Given the description of an element on the screen output the (x, y) to click on. 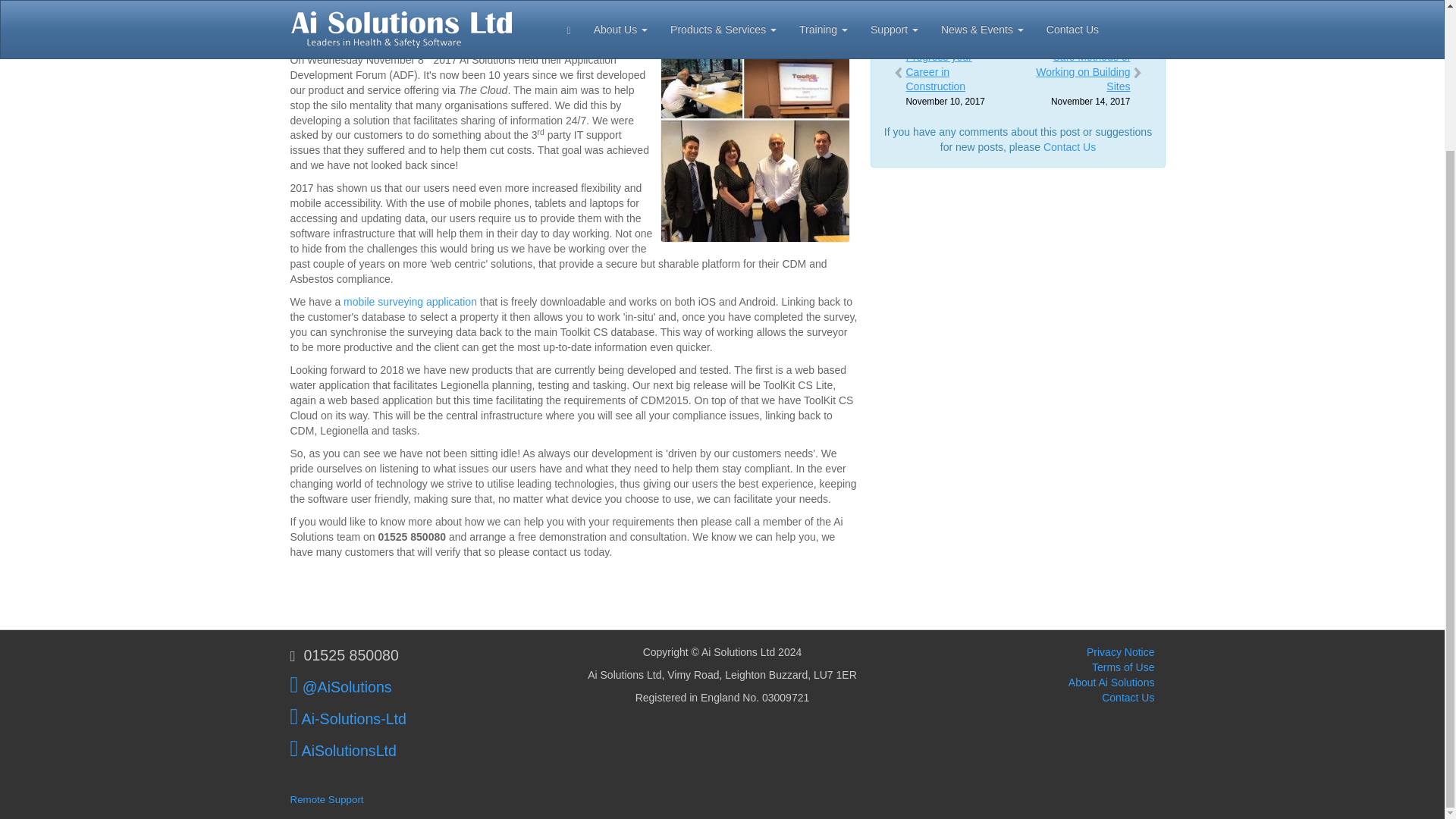
AiSolutionsLtd (342, 750)
Ai Solutions Blog (1063, 13)
Contact Us (1069, 146)
Privacy Notice (1120, 652)
Ai-Solutions-Ltd (347, 718)
November 2017 (968, 13)
mobile surveying application (410, 301)
